Given the description of an element on the screen output the (x, y) to click on. 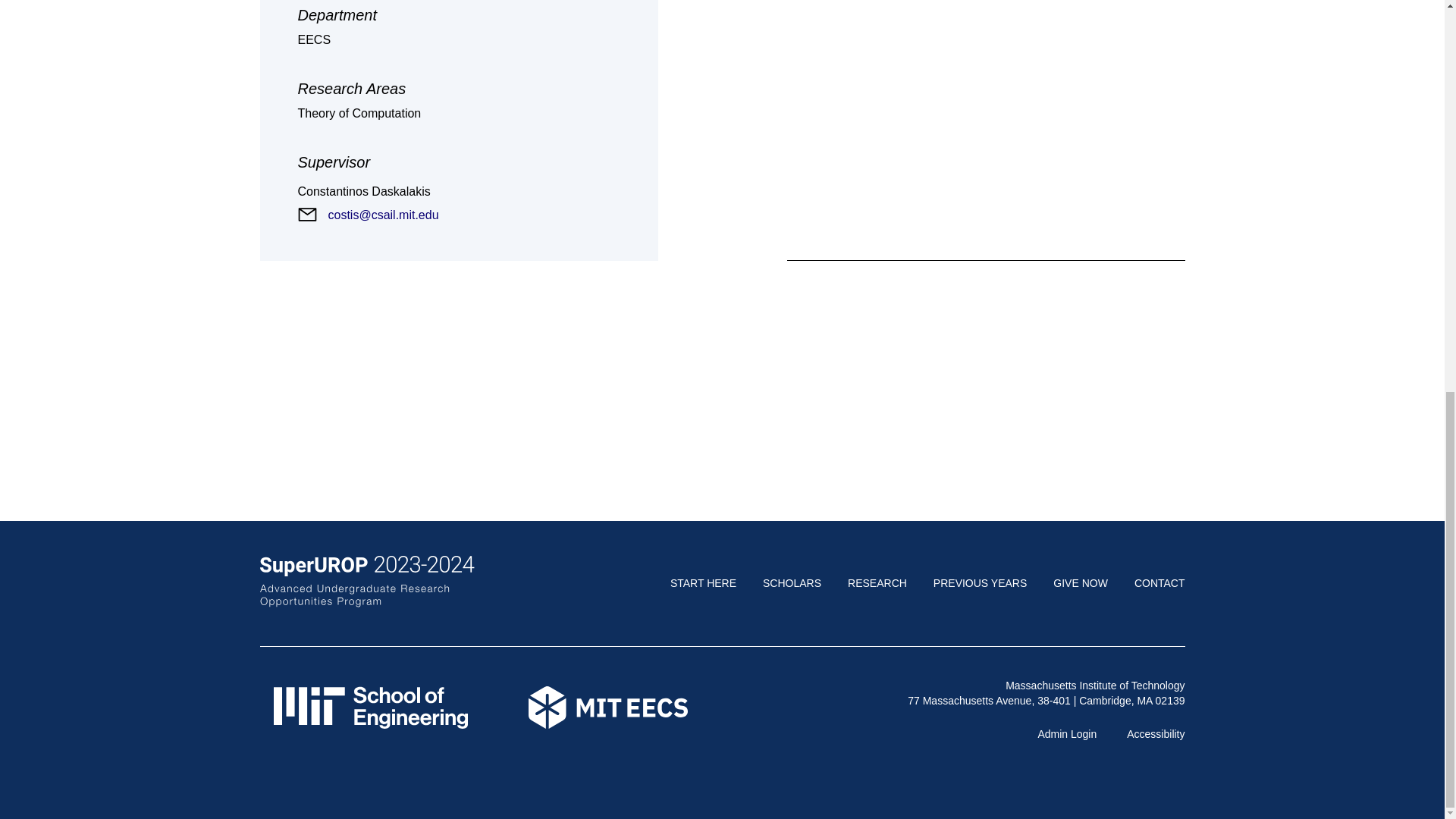
GIVE NOW (1080, 582)
START HERE (702, 582)
RESEARCH (877, 582)
Admin Login (1066, 734)
SCHOLARS (791, 582)
Accessibility (1155, 734)
PREVIOUS YEARS (979, 582)
CONTACT (1159, 582)
